Given the description of an element on the screen output the (x, y) to click on. 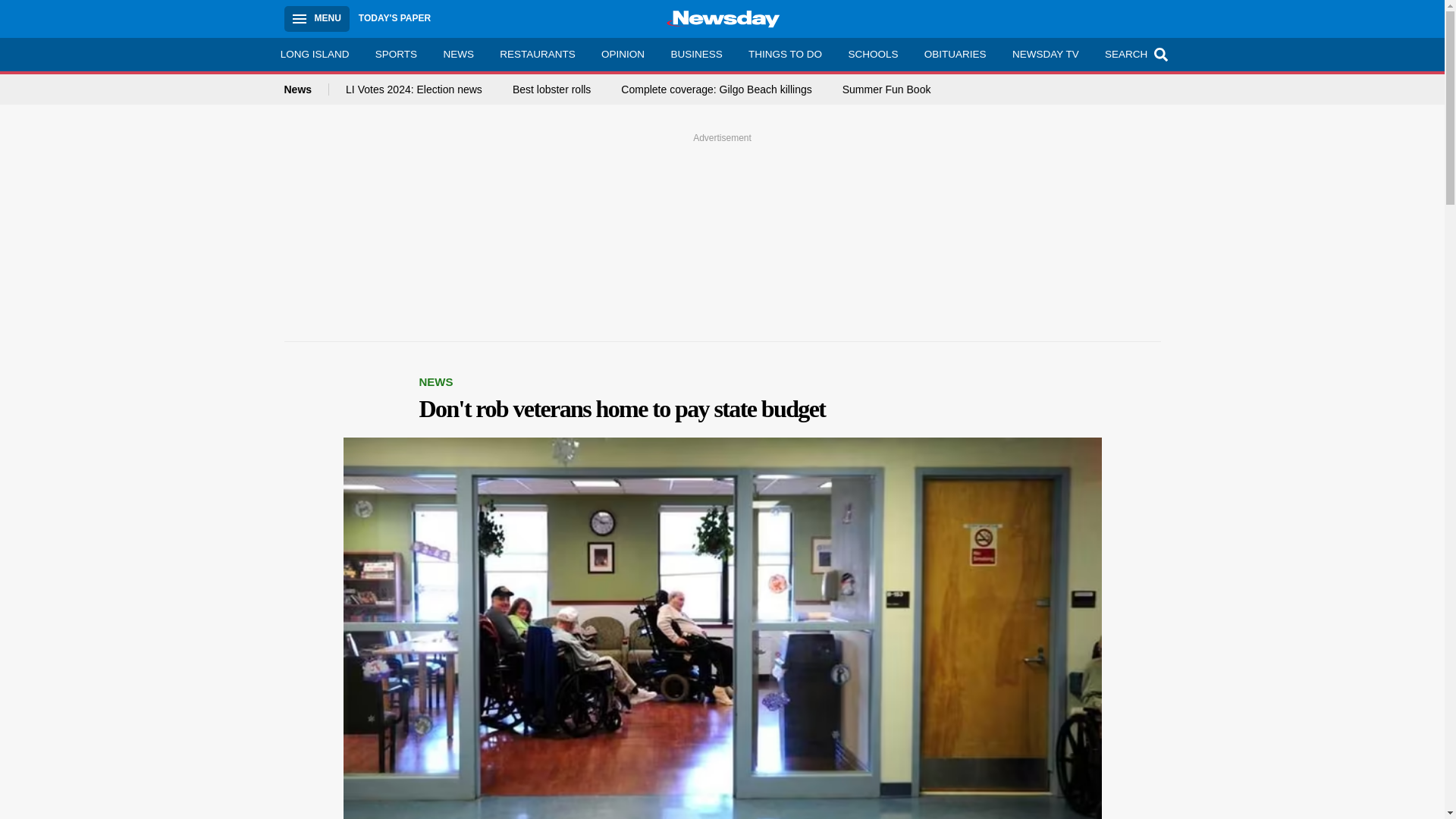
SPORTS (396, 54)
TODAY'S PAPER (394, 18)
MENU (316, 18)
Complete coverage: Gilgo Beach killings (715, 89)
NEWS (457, 54)
OPINION (623, 54)
LONG ISLAND (313, 54)
Summer Fun Book (887, 89)
News (306, 89)
NEWSDAY TV (1045, 54)
RESTAURANTS (537, 54)
OBITUARIES (954, 54)
LI Votes 2024: Election news (413, 89)
BUSINESS (696, 54)
SEARCH (1134, 54)
